Given the description of an element on the screen output the (x, y) to click on. 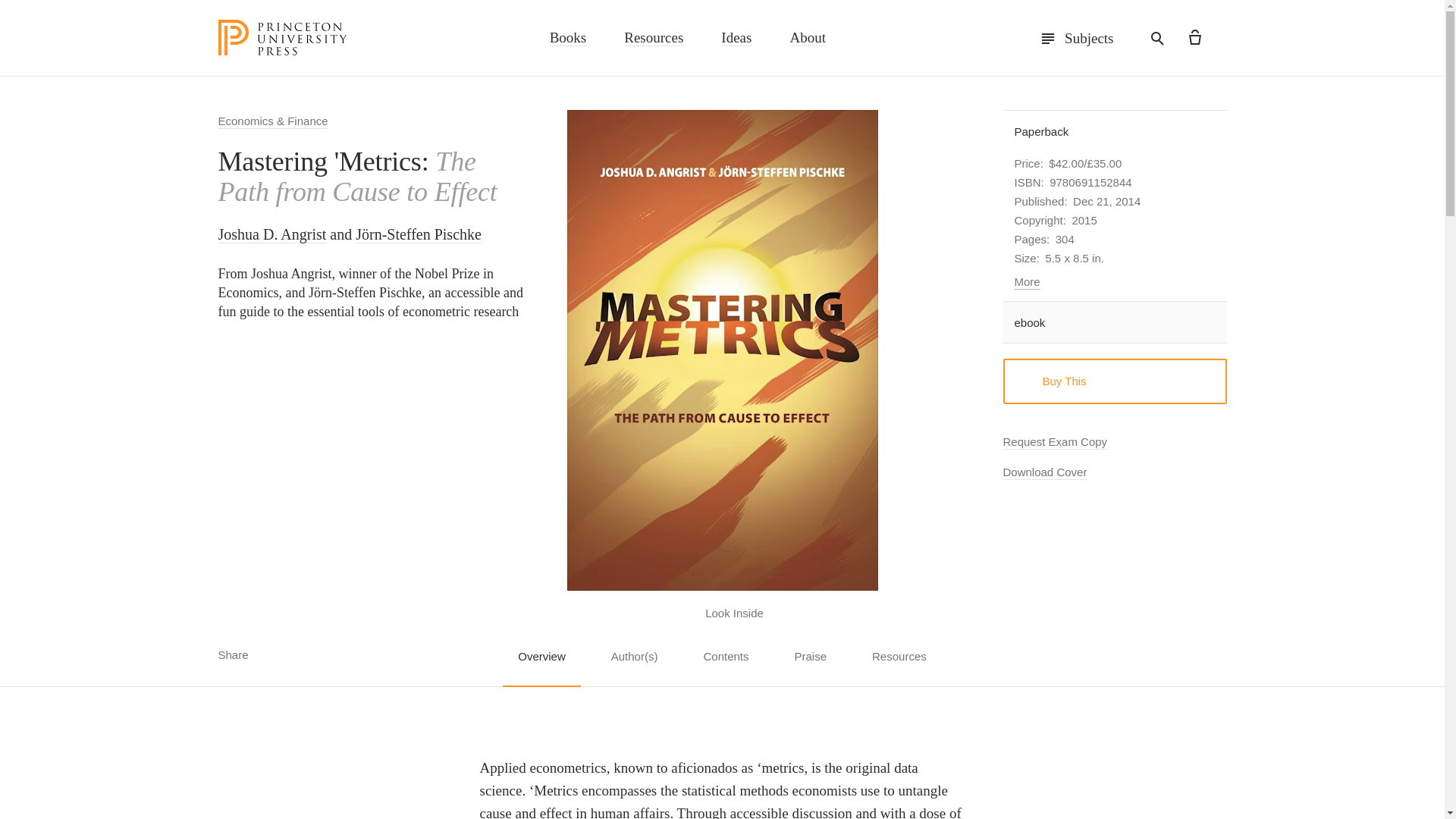
Buy This (1114, 381)
Request Exam Copy (1054, 444)
ebook (1114, 322)
Browse Books (568, 41)
Home (282, 37)
Ideas (735, 41)
Books (568, 41)
About (807, 41)
Share (243, 653)
Resources (653, 41)
